Given the description of an element on the screen output the (x, y) to click on. 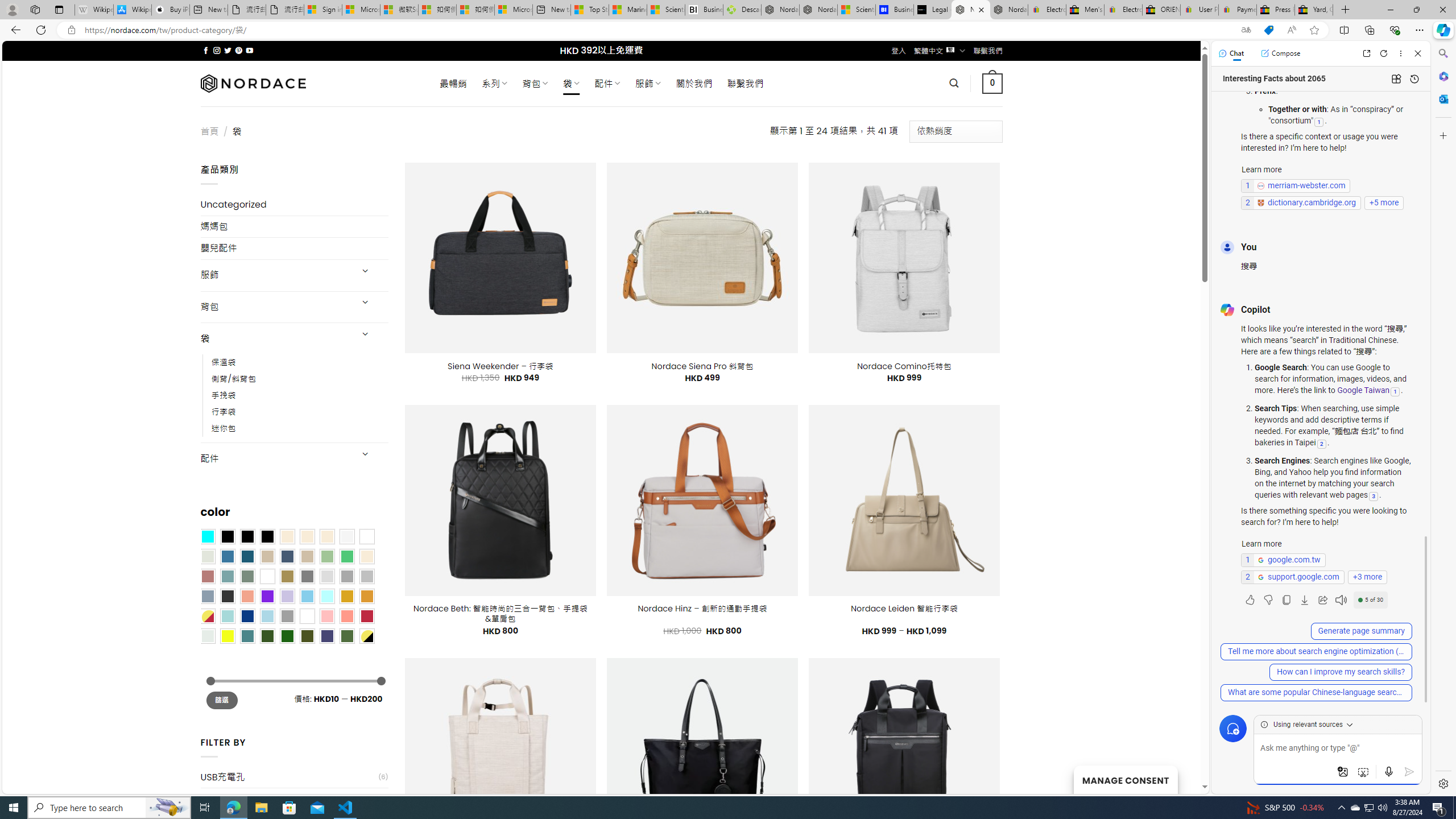
 0  (992, 83)
Show translate options (1245, 29)
